Given the description of an element on the screen output the (x, y) to click on. 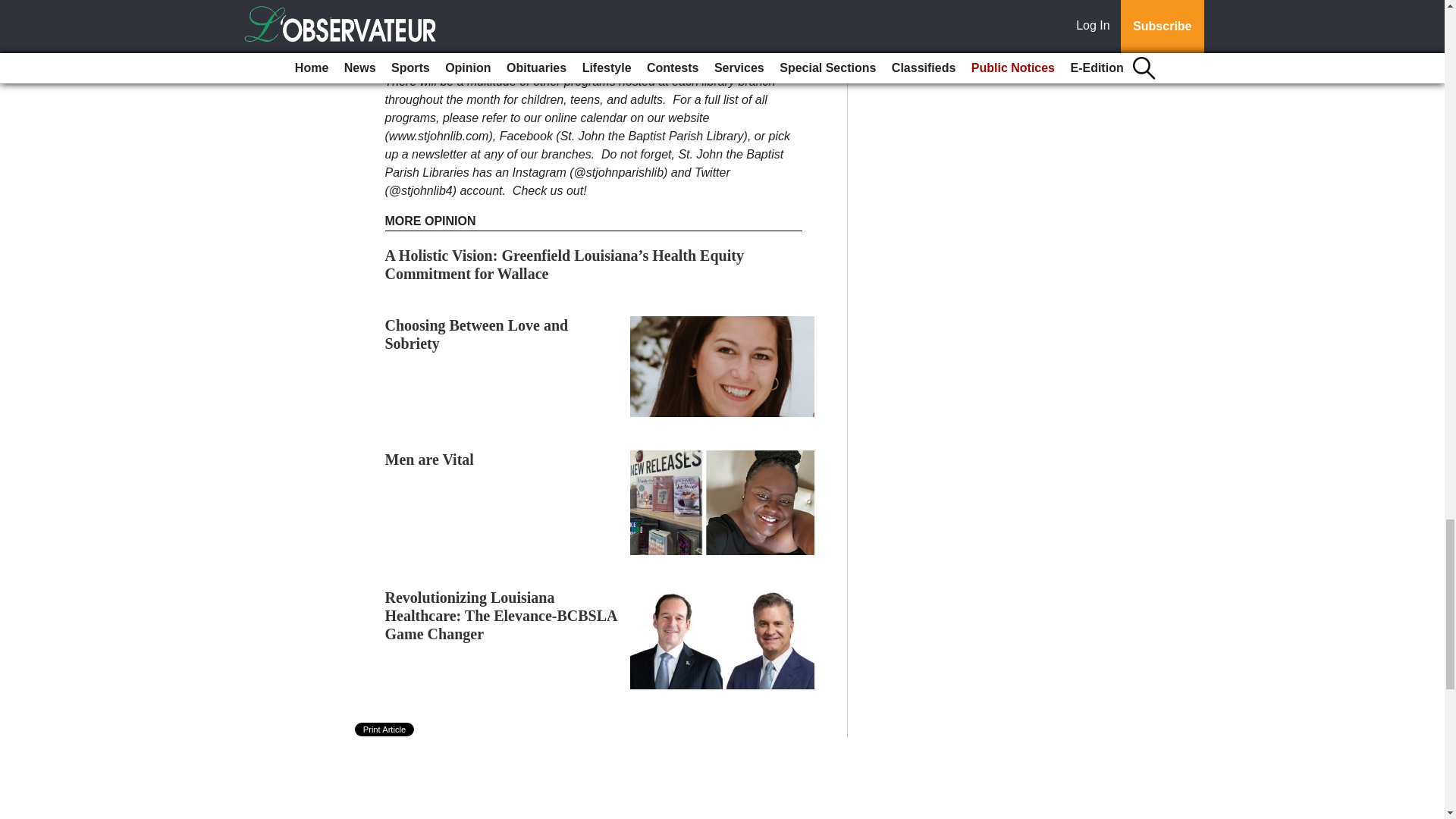
Choosing Between Love and Sobriety (477, 334)
Choosing Between Love and Sobriety (477, 334)
Men are Vital (429, 459)
Print Article (384, 729)
Men are Vital (429, 459)
